Given the description of an element on the screen output the (x, y) to click on. 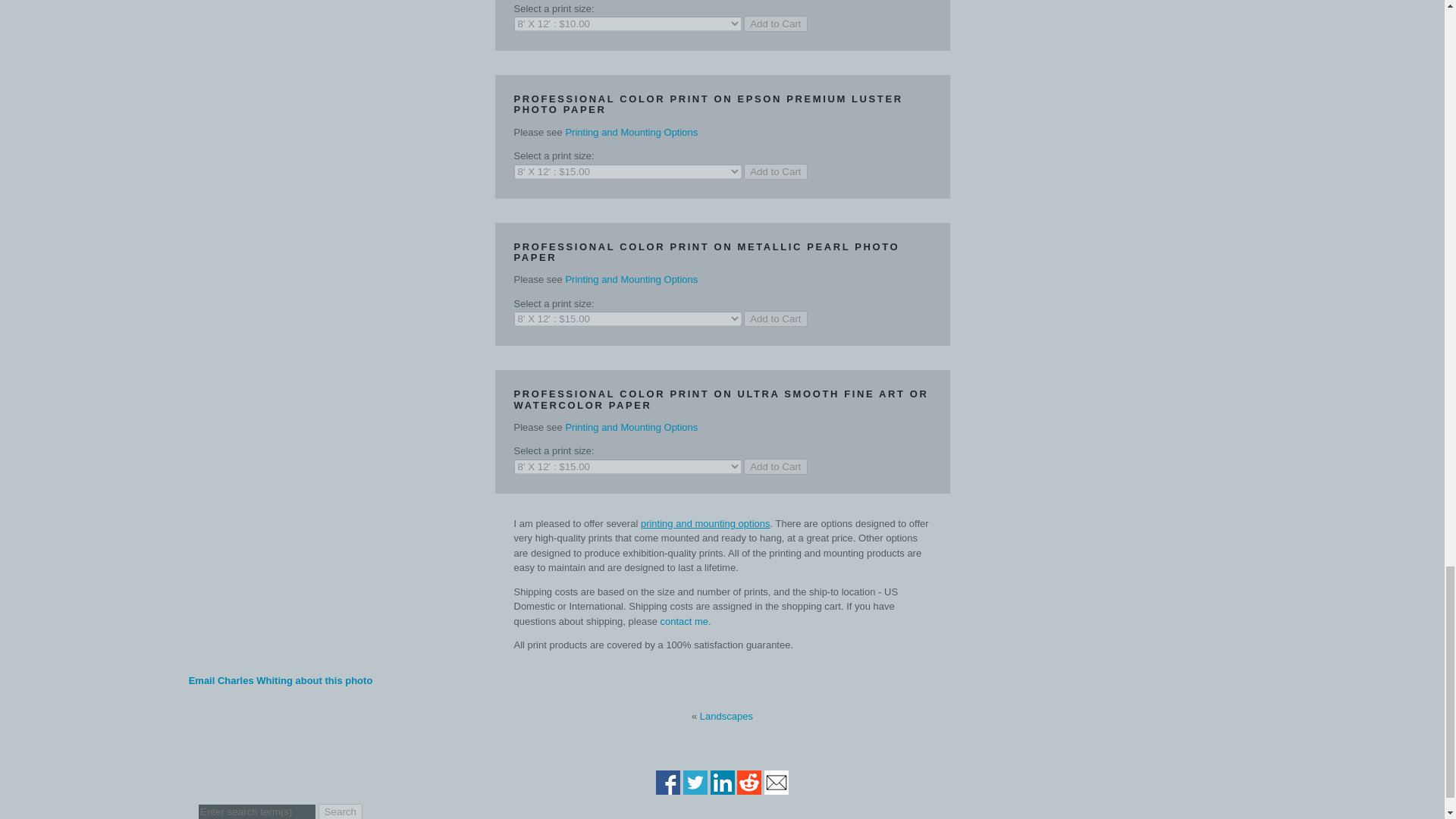
Add to Cart (775, 466)
Printing and Mounting Options (630, 279)
printing and mounting options (705, 523)
Add to Cart (775, 23)
Printing and Mounting Options (630, 132)
Share by Email (776, 787)
Share on Facebook (667, 787)
Email Charles Whiting about this photo (280, 680)
Share on LinkedIn (721, 787)
See more Landscapes photos (726, 715)
Contact (280, 680)
Printing and Mounting Options (630, 427)
Add to Cart (775, 171)
Share on Reddit (748, 787)
Landscapes (726, 715)
